Given the description of an element on the screen output the (x, y) to click on. 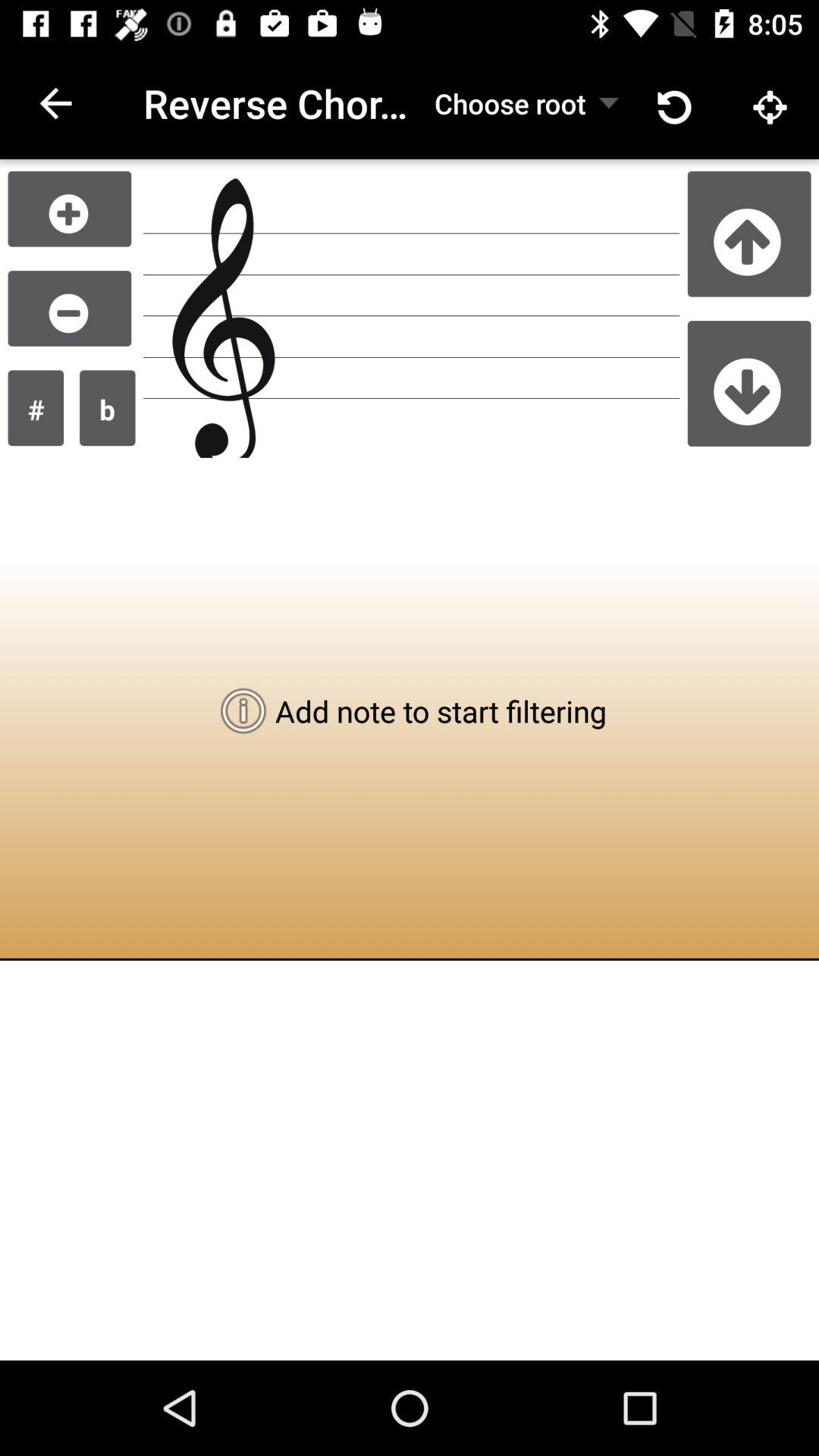
scroll up (749, 233)
